Given the description of an element on the screen output the (x, y) to click on. 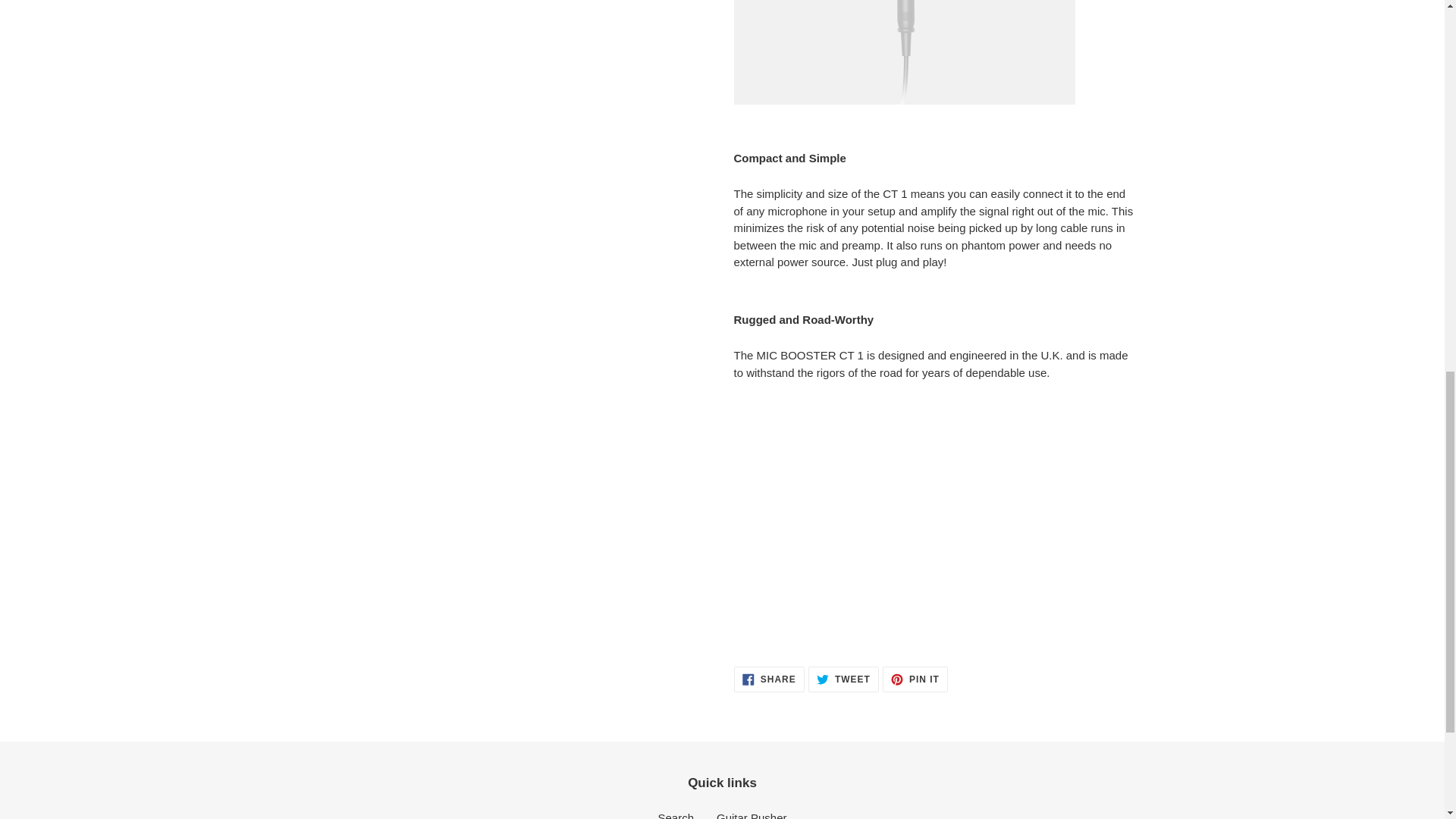
YouTube video player (945, 514)
